Given the description of an element on the screen output the (x, y) to click on. 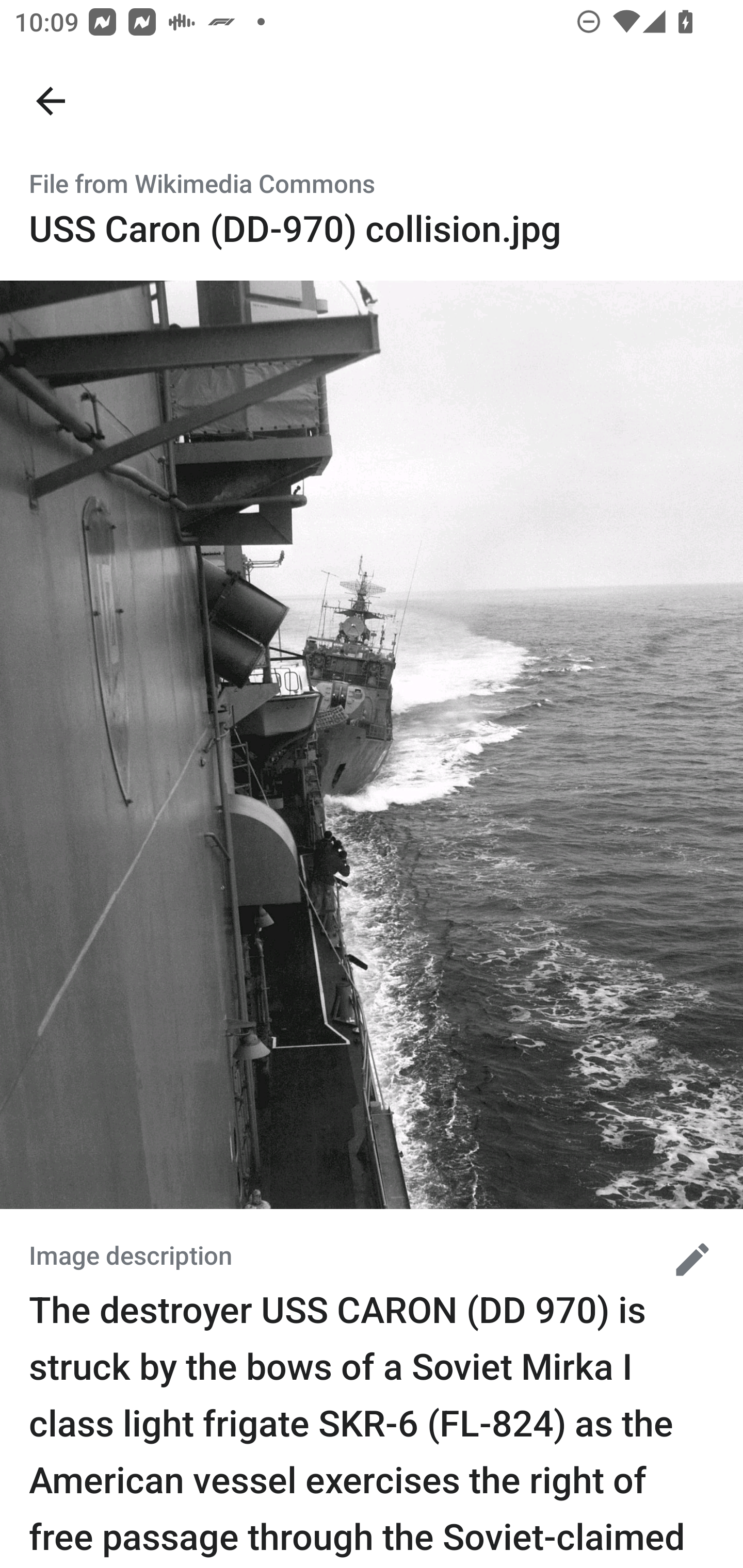
Navigate up (50, 101)
Edit Image description (685, 1259)
